Given the description of an element on the screen output the (x, y) to click on. 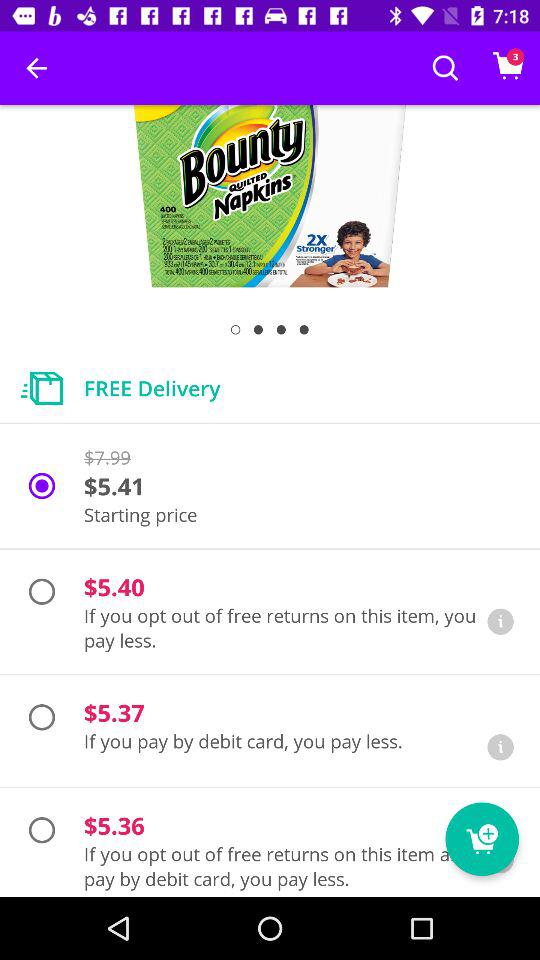
information (500, 747)
